Given the description of an element on the screen output the (x, y) to click on. 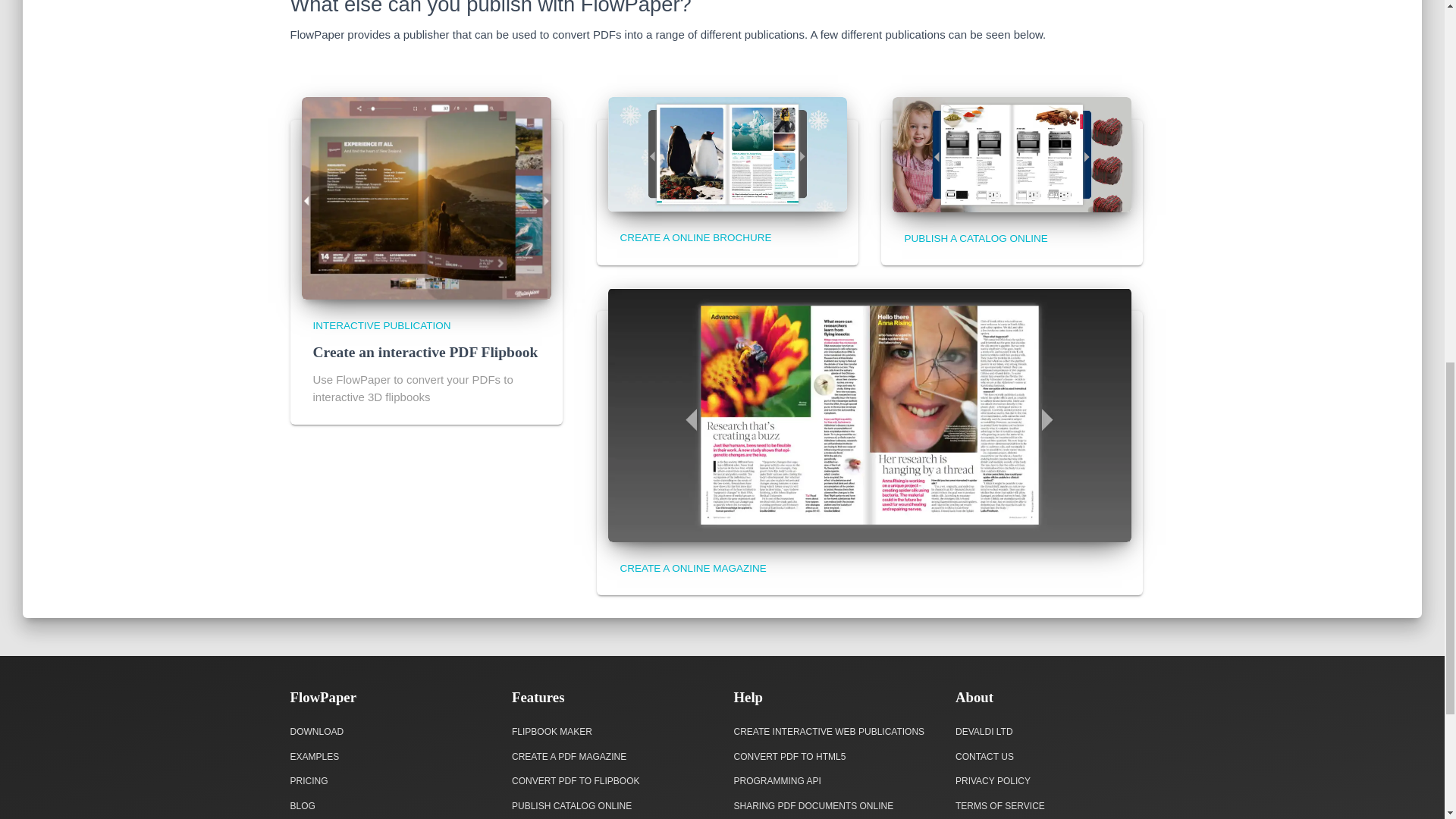
Create an interactive PDF Flipbook (425, 351)
